Given the description of an element on the screen output the (x, y) to click on. 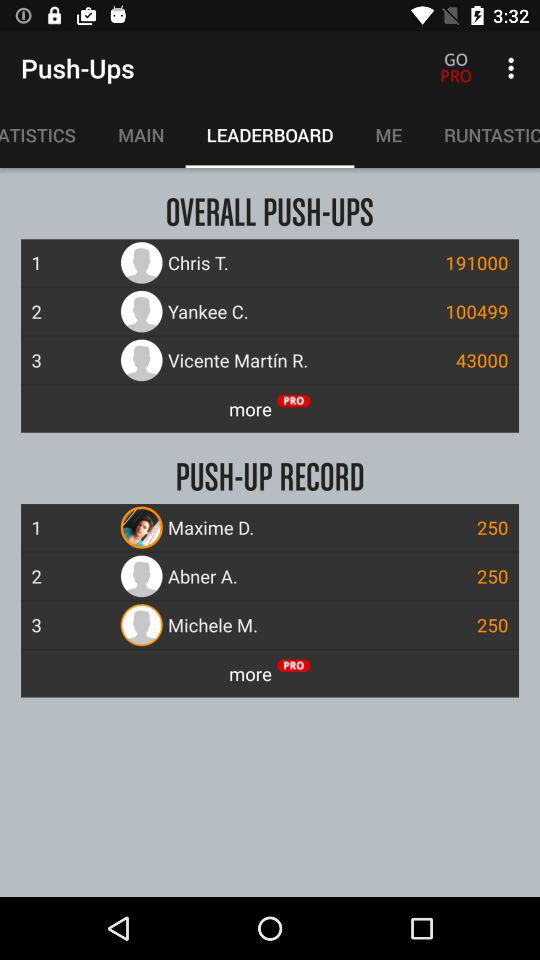
choose the icon to the right of me (481, 135)
